Given the description of an element on the screen output the (x, y) to click on. 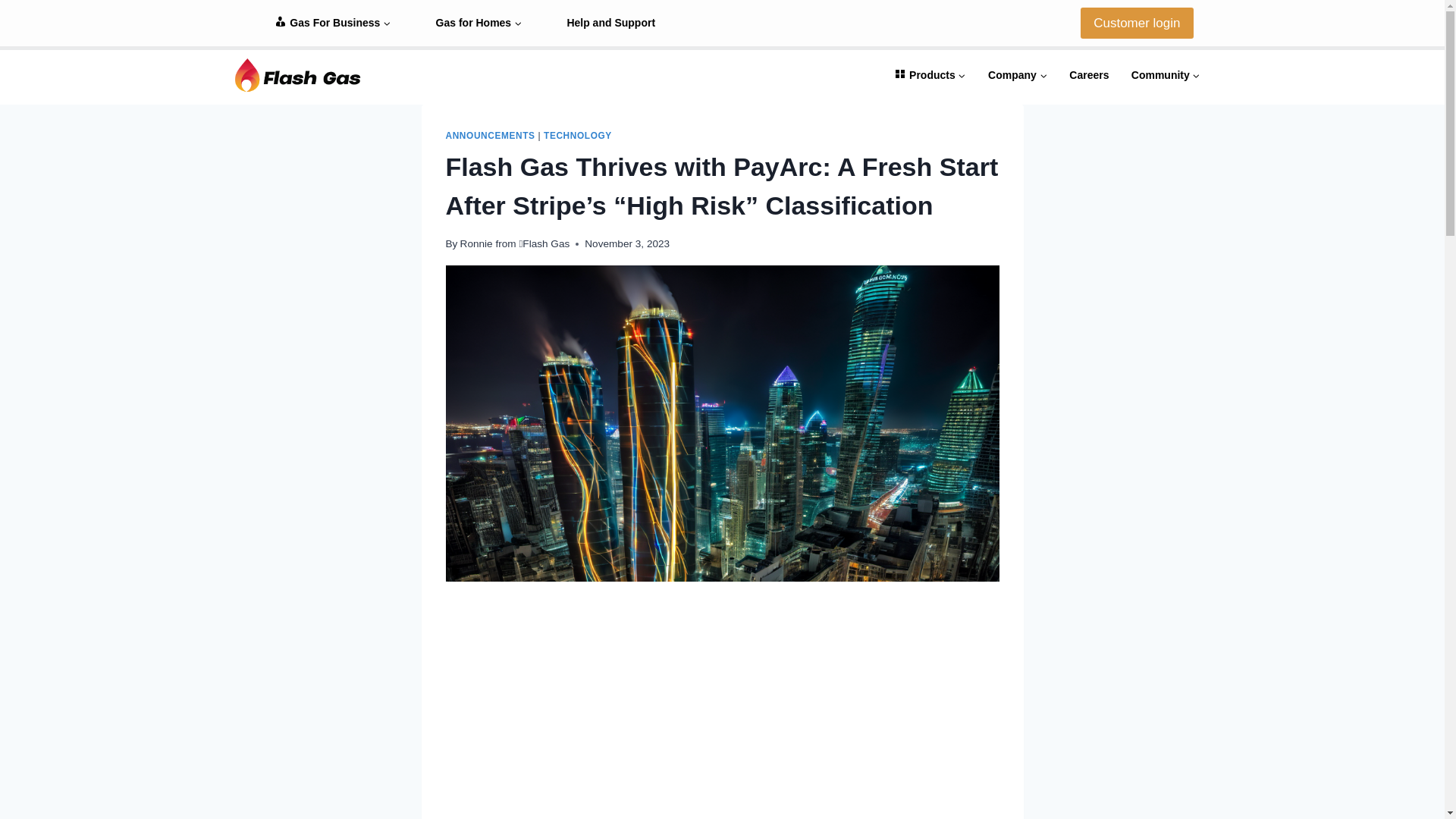
Customer login (1136, 22)
Company (1017, 74)
Gas for Homes (478, 22)
Community (1165, 74)
Gas For Business (332, 22)
Products (929, 74)
Help and Support (611, 22)
Careers (1089, 74)
